Given the description of an element on the screen output the (x, y) to click on. 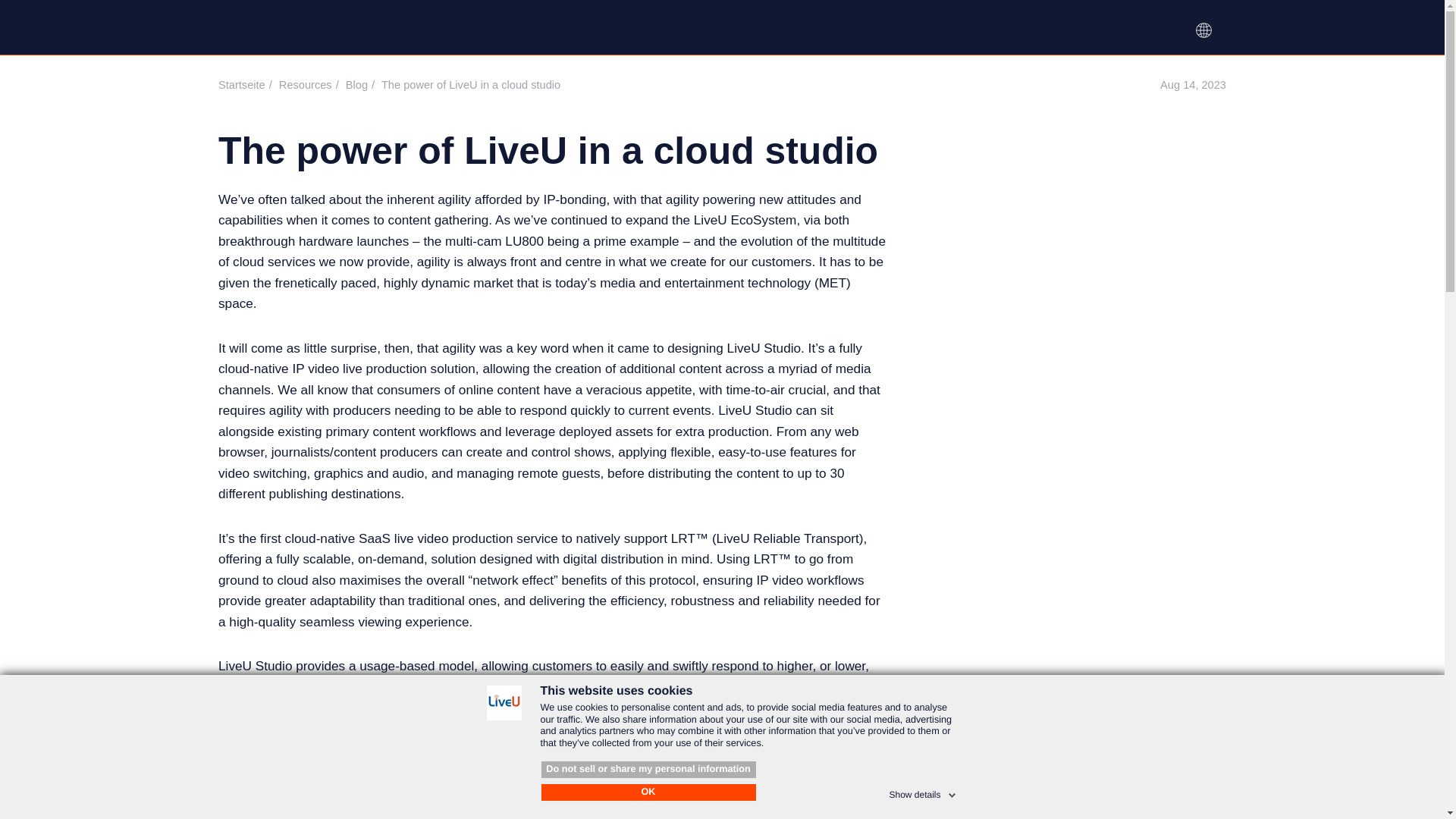
OK (648, 791)
Show details (923, 791)
Do not sell or share my personal information (648, 769)
